Given the description of an element on the screen output the (x, y) to click on. 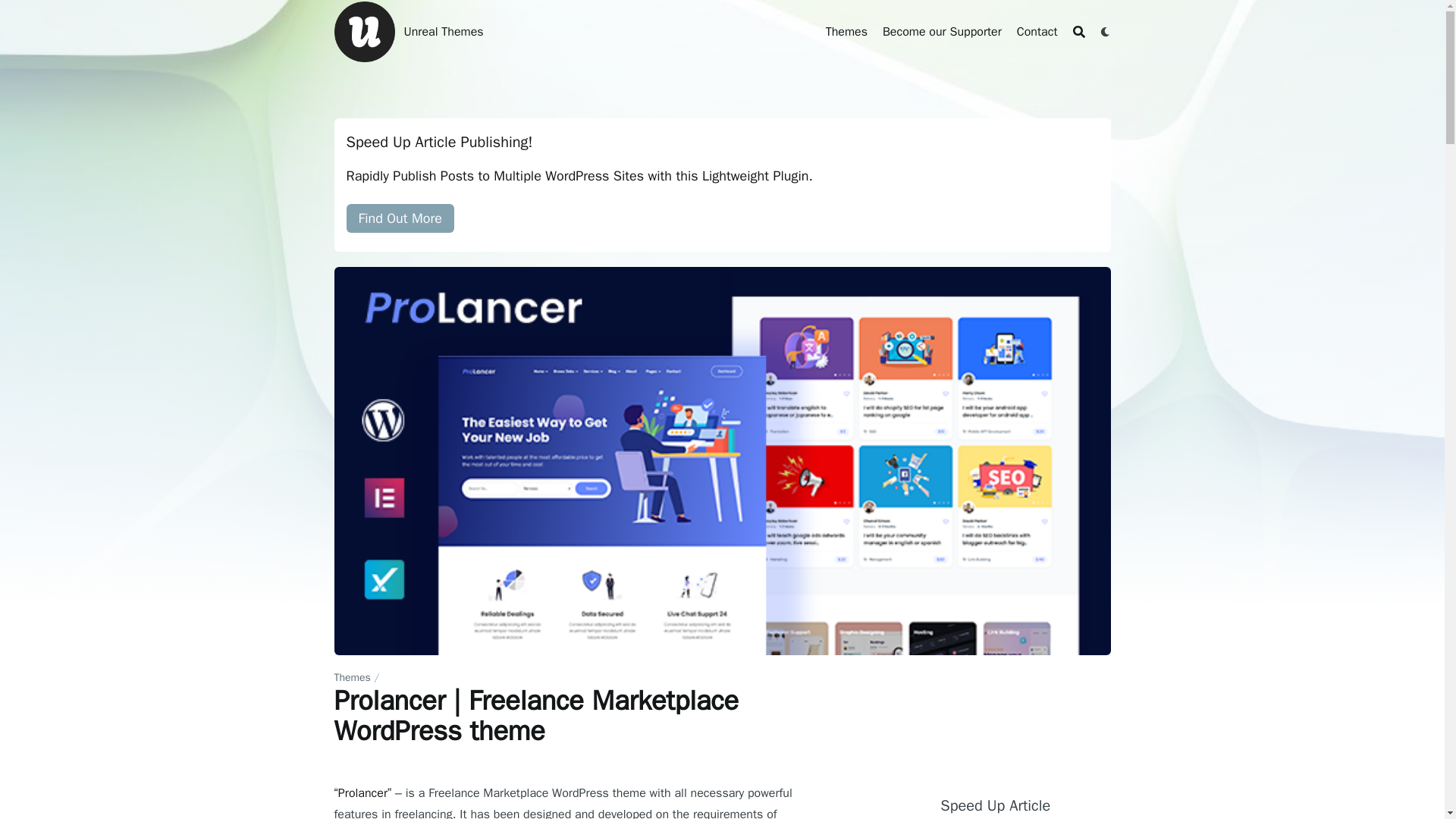
Themes (846, 31)
Find Out More (399, 217)
Themes (846, 31)
Themes (351, 676)
Unreal Themes (363, 31)
Unreal Themes (443, 31)
